Given the description of an element on the screen output the (x, y) to click on. 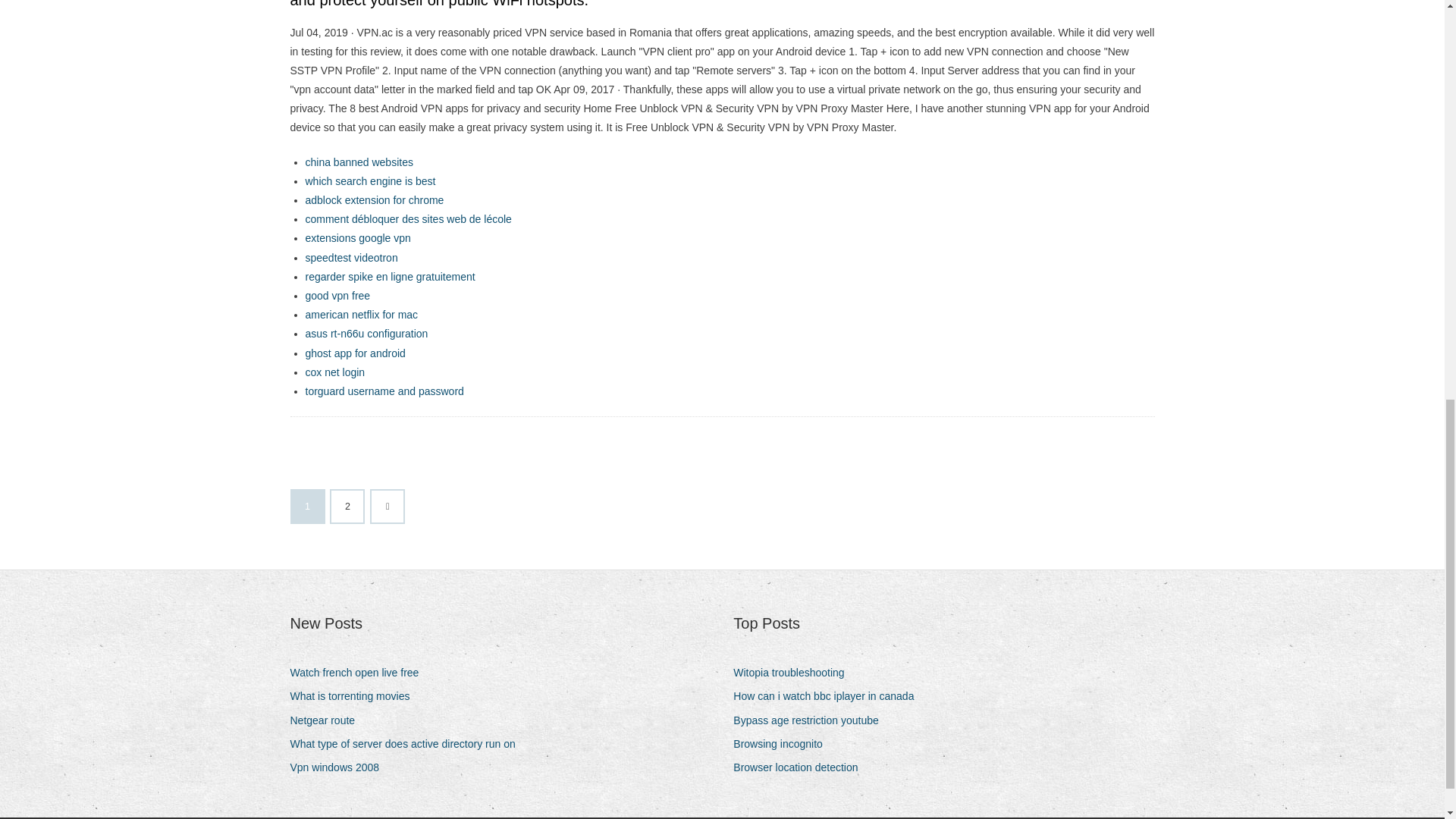
Vpn windows 2008 (339, 767)
Netgear route (327, 720)
Browser location detection (801, 767)
How can i watch bbc iplayer in canada (828, 696)
american netflix for mac (360, 314)
ghost app for android (354, 353)
cox net login (334, 372)
torguard username and password (383, 390)
adblock extension for chrome (374, 200)
china banned websites (358, 162)
